Given the description of an element on the screen output the (x, y) to click on. 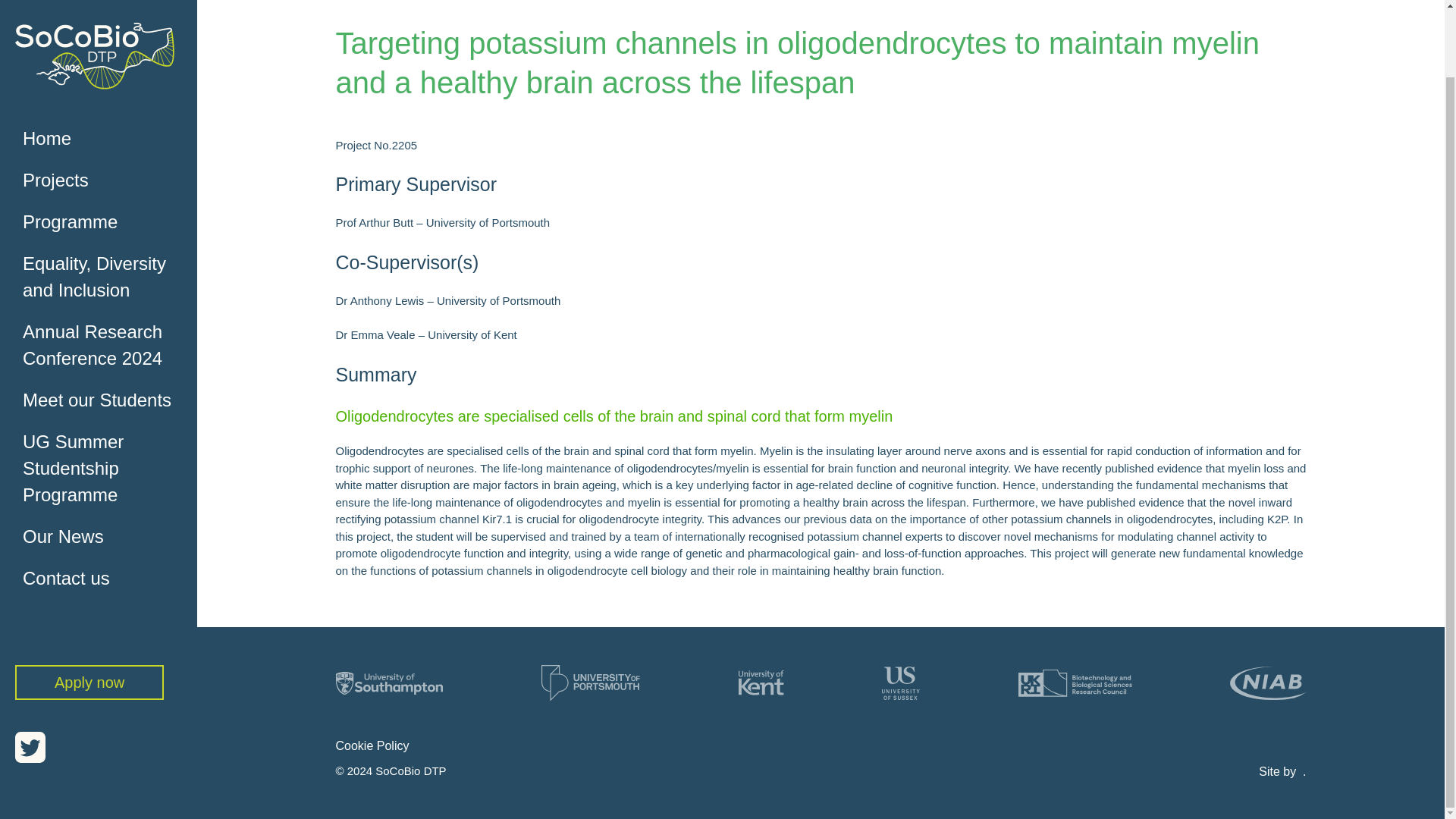
Apply now (88, 608)
Home (105, 64)
Meet our Students (105, 326)
UG Summer Studentship Programme (105, 394)
Projects (105, 106)
Programme (105, 147)
Cookie Policy (371, 745)
Contact us (105, 504)
Annual Research Conference 2024 (105, 271)
Equality, Diversity and Inclusion (105, 202)
Our News (105, 463)
